Given the description of an element on the screen output the (x, y) to click on. 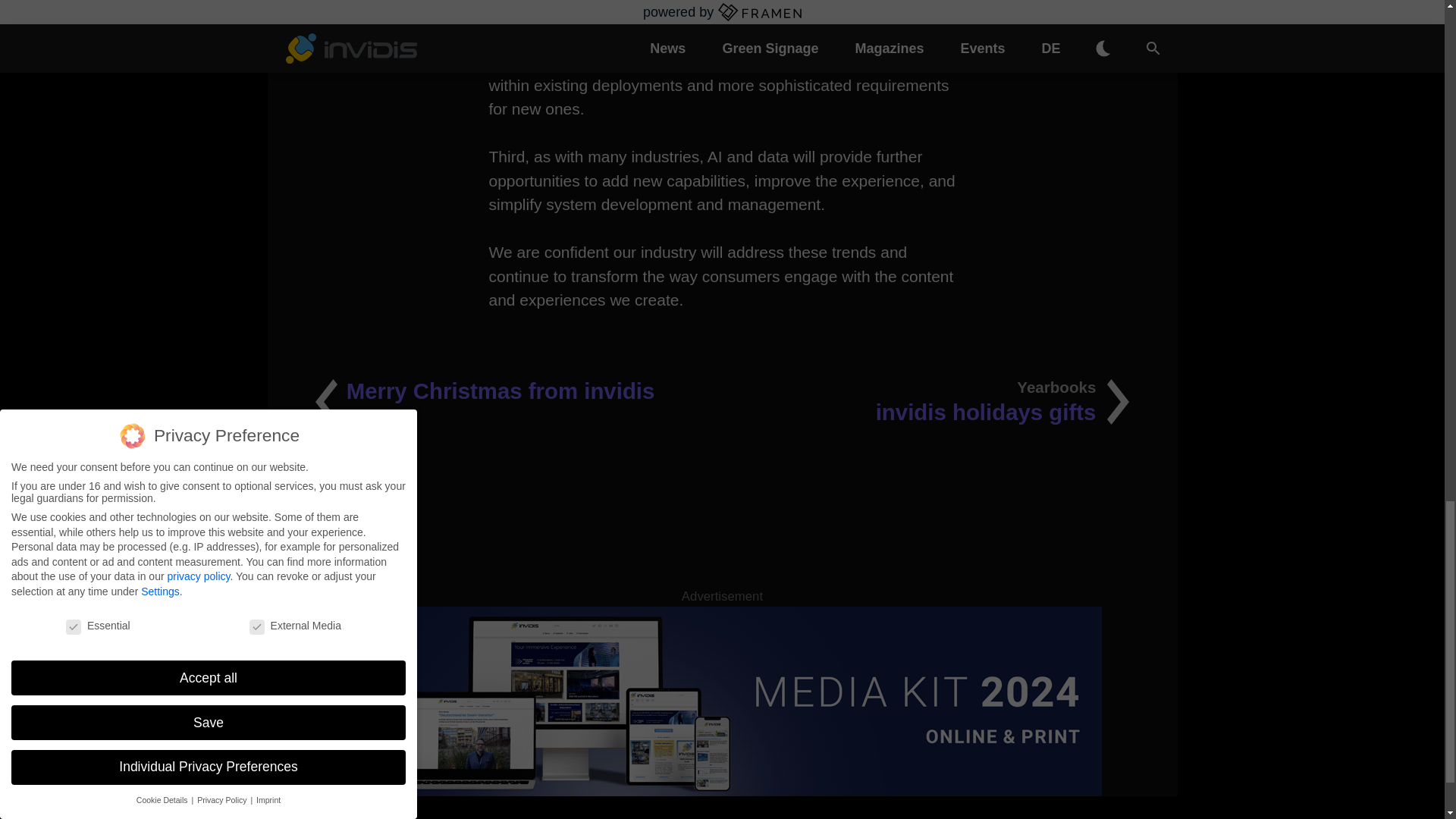
Next Beitrag (925, 402)
Merry Christmas from invidis (925, 402)
Previous Beitrag (518, 402)
